Given the description of an element on the screen output the (x, y) to click on. 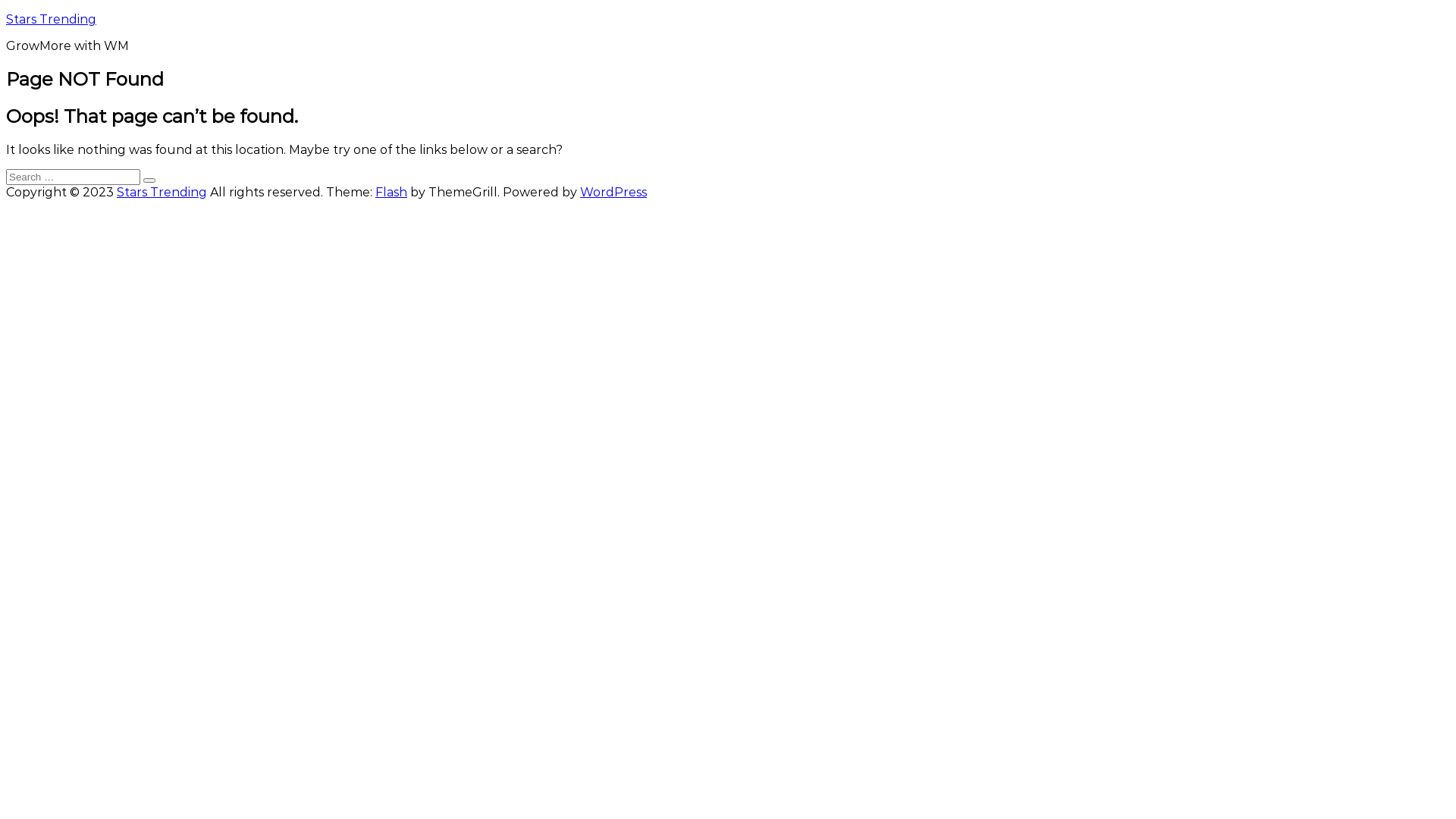
Flash Element type: text (391, 192)
Skip to content Element type: text (5, 11)
Search Element type: text (149, 180)
WordPress Element type: text (613, 192)
Stars Trending Element type: text (51, 19)
Stars Trending Element type: text (161, 192)
